Given the description of an element on the screen output the (x, y) to click on. 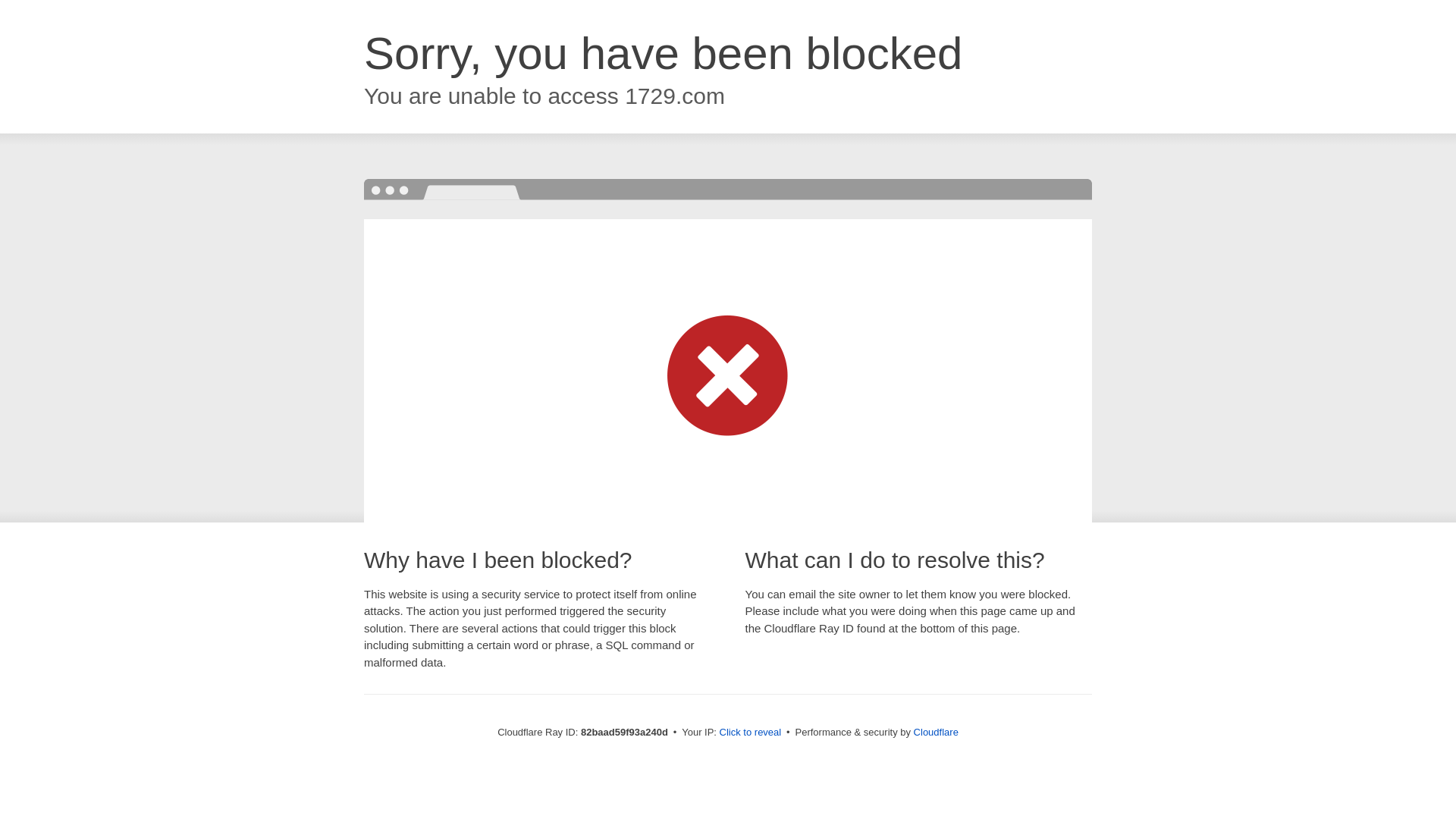
Click to reveal Element type: text (750, 732)
Cloudflare Element type: text (935, 731)
